Given the description of an element on the screen output the (x, y) to click on. 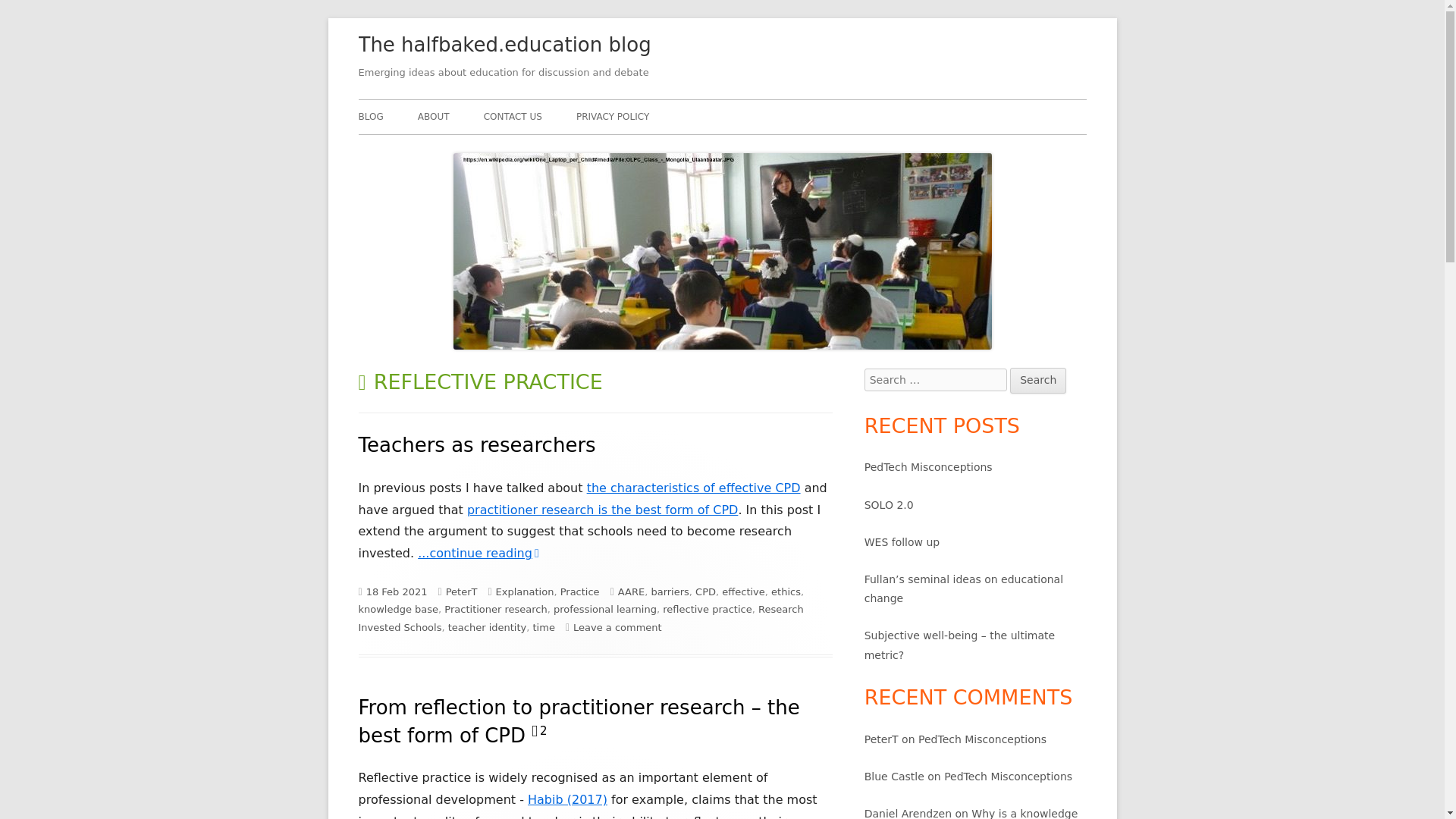
Explanation (525, 591)
Search (1037, 380)
CONTACT US (512, 116)
Teachers as researchers (476, 445)
CPD (705, 591)
The halfbaked.education blog (504, 45)
Practice (579, 591)
barriers (669, 591)
PRIVACY POLICY (612, 116)
teacher identity (487, 627)
